Given the description of an element on the screen output the (x, y) to click on. 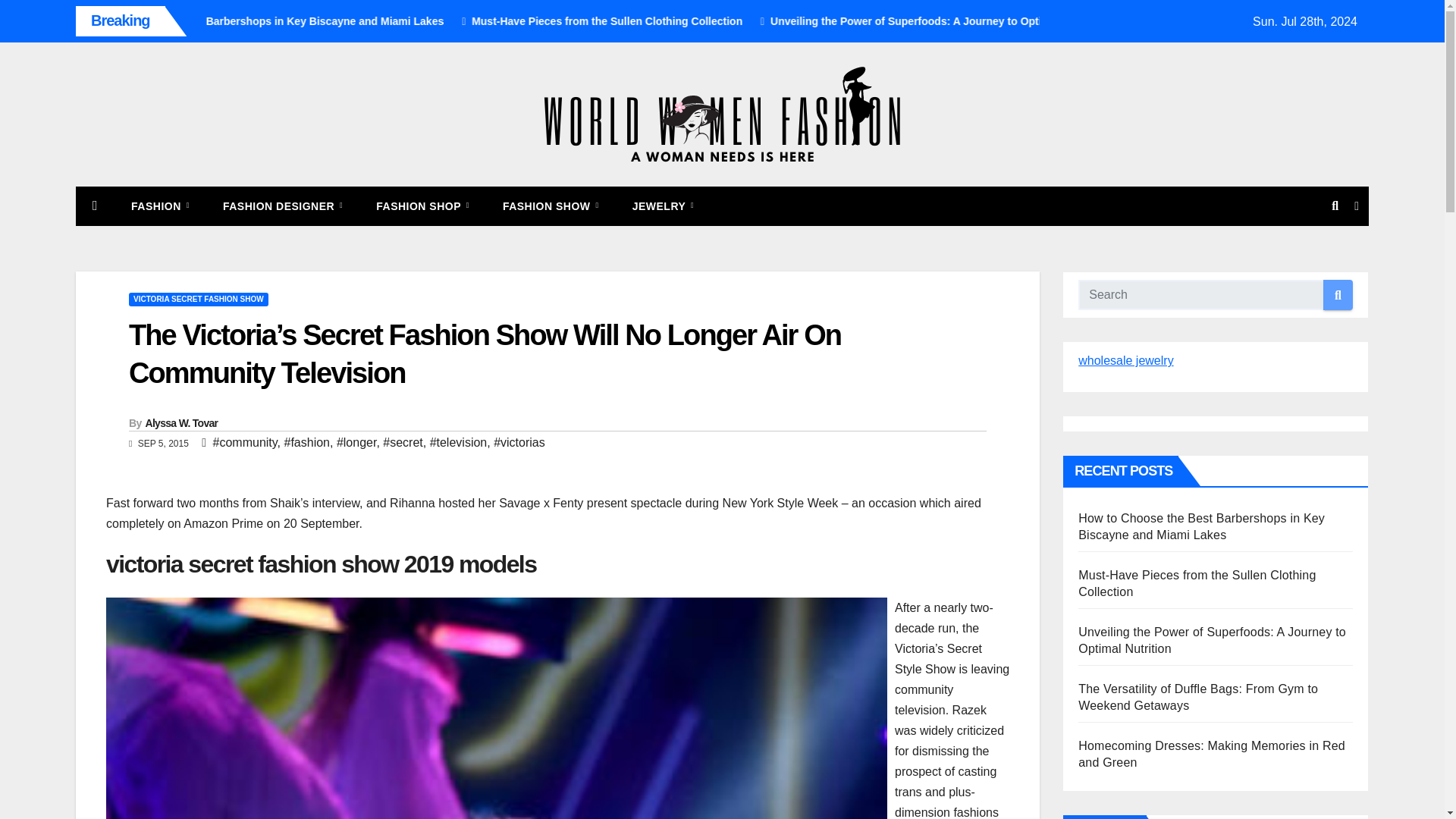
Fashion Designer (282, 206)
Must-Have Pieces from the Sullen Clothing Collection (740, 21)
FASHION SHOP (422, 206)
FASHION SHOW (550, 206)
Fashion Shop (422, 206)
JEWELRY (663, 206)
Fashion (160, 206)
FASHION DESIGNER (282, 206)
FASHION (160, 206)
